Given the description of an element on the screen output the (x, y) to click on. 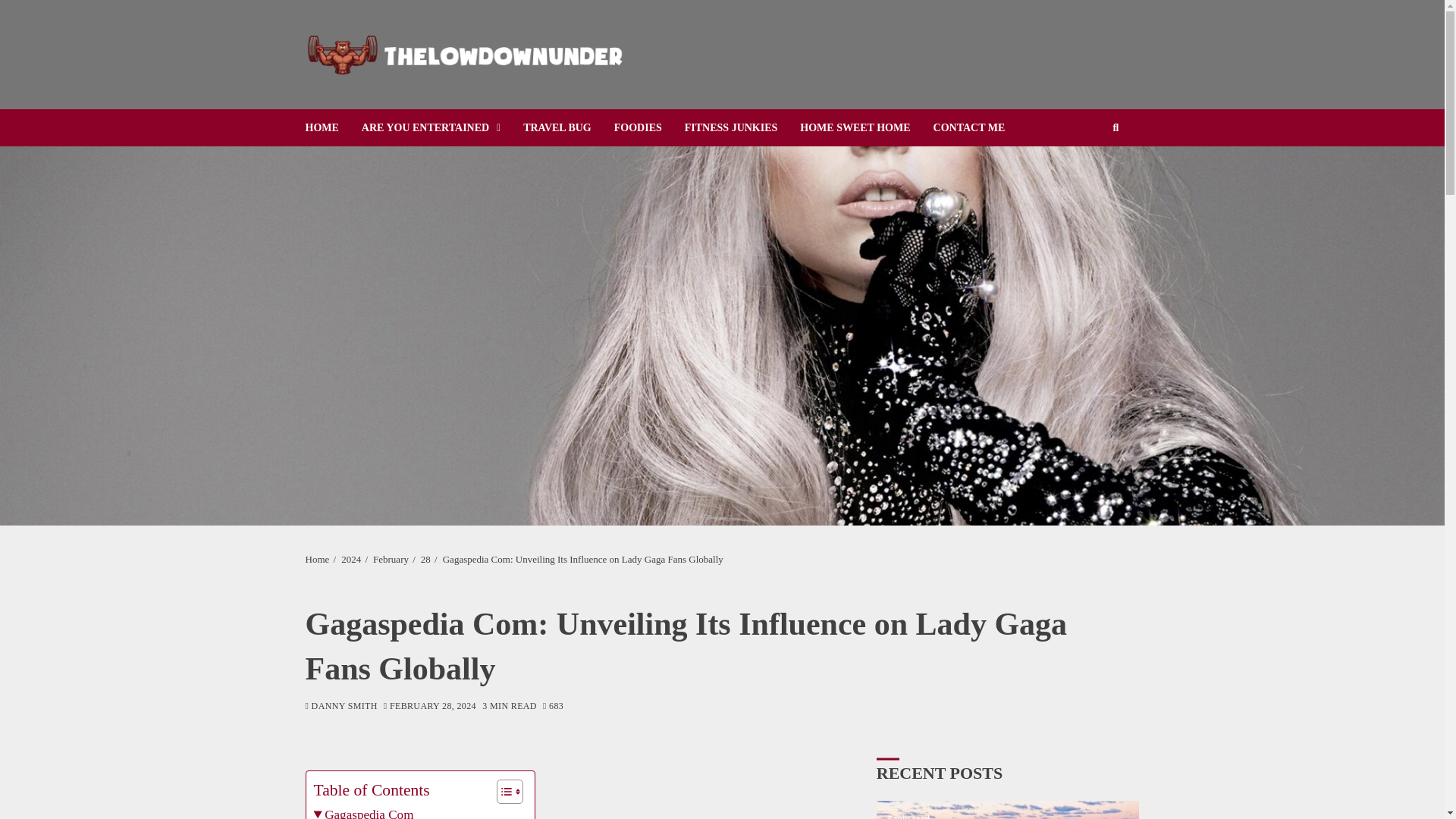
683 (553, 707)
Home (316, 559)
2024 (350, 559)
FOODIES (649, 127)
CONTACT ME (980, 127)
February (390, 559)
Gagaspedia Com (363, 811)
ARE YOU ENTERTAINED (441, 127)
HOME (332, 127)
FITNESS JUNKIES (742, 127)
DANNY SMITH (340, 707)
Search (1092, 174)
Gagaspedia Com (363, 811)
TRAVEL BUG (568, 127)
